Given the description of an element on the screen output the (x, y) to click on. 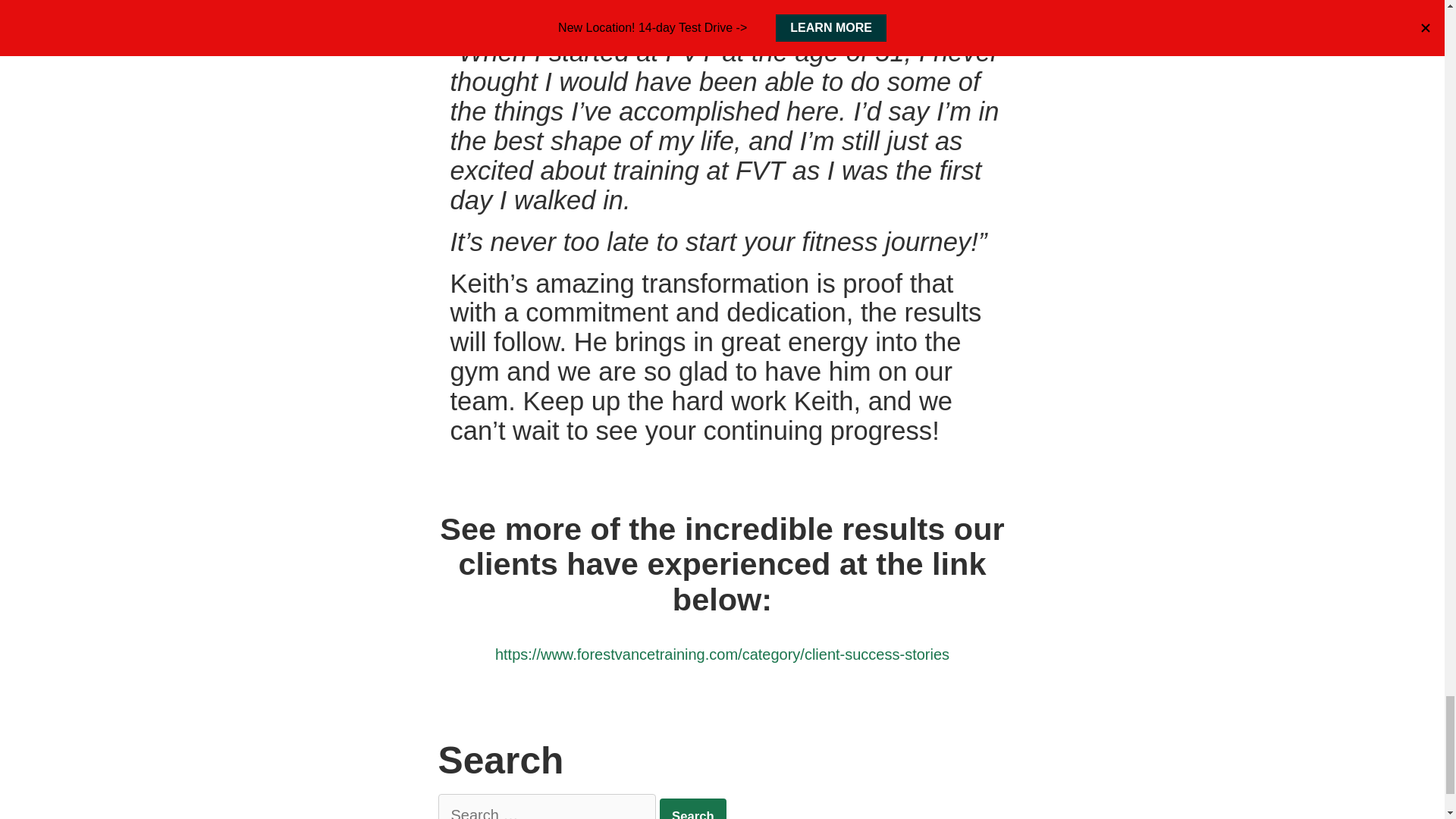
Search (692, 808)
Search (692, 808)
Search (692, 808)
